Given the description of an element on the screen output the (x, y) to click on. 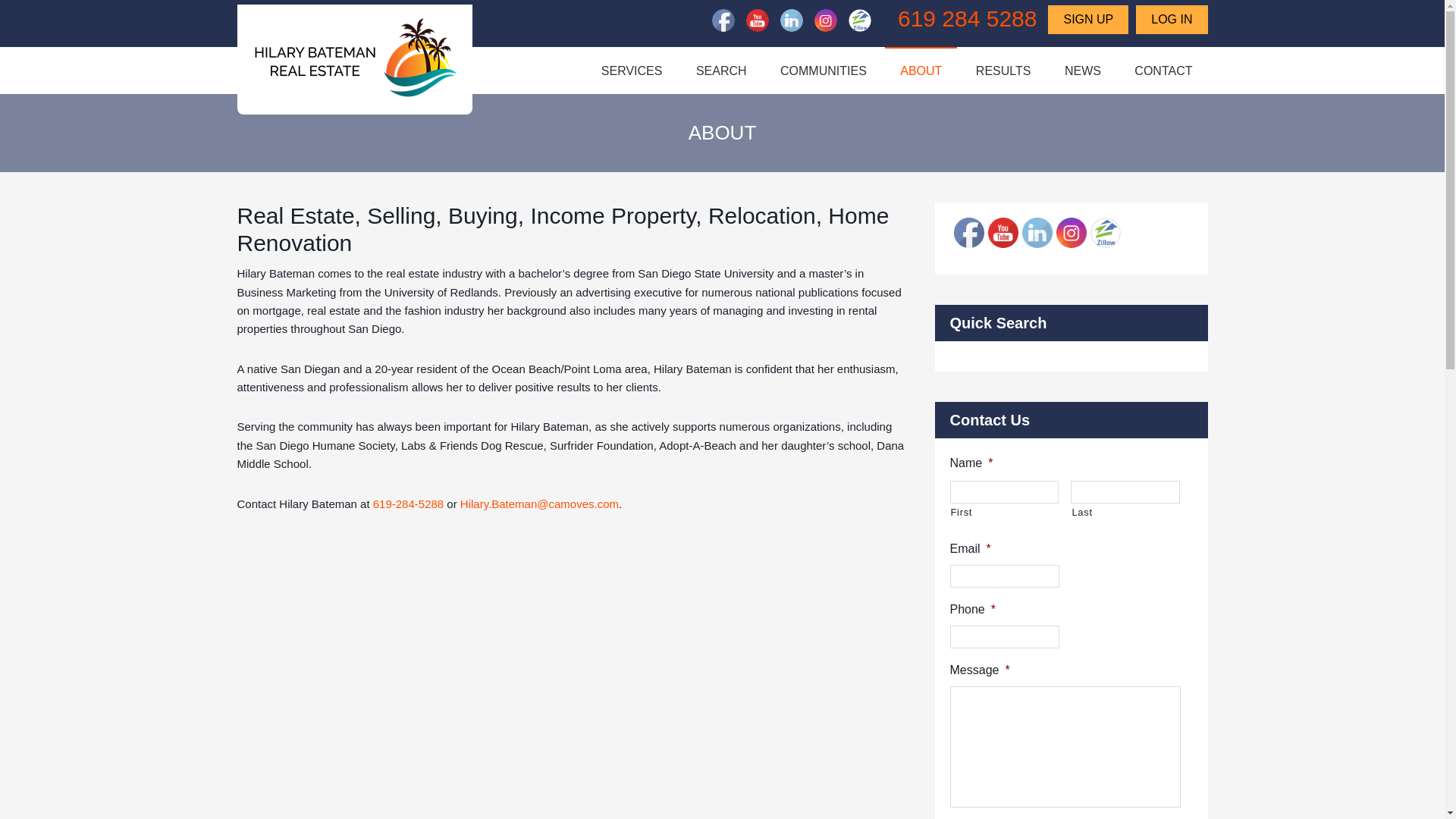
Hilary Bateman Realty (354, 63)
RESULTS (1003, 70)
LOG IN (1171, 19)
Facebook (723, 20)
SERVICES (632, 70)
Facebook (968, 232)
LinkedIn (1037, 232)
SEARCH (721, 70)
COMMUNITIES (823, 70)
619 284 5288 (967, 18)
CONTACT (1163, 70)
LinkedIn (791, 20)
SIGN UP (1088, 19)
Instagram (1070, 232)
NEWS (1082, 70)
